Given the description of an element on the screen output the (x, y) to click on. 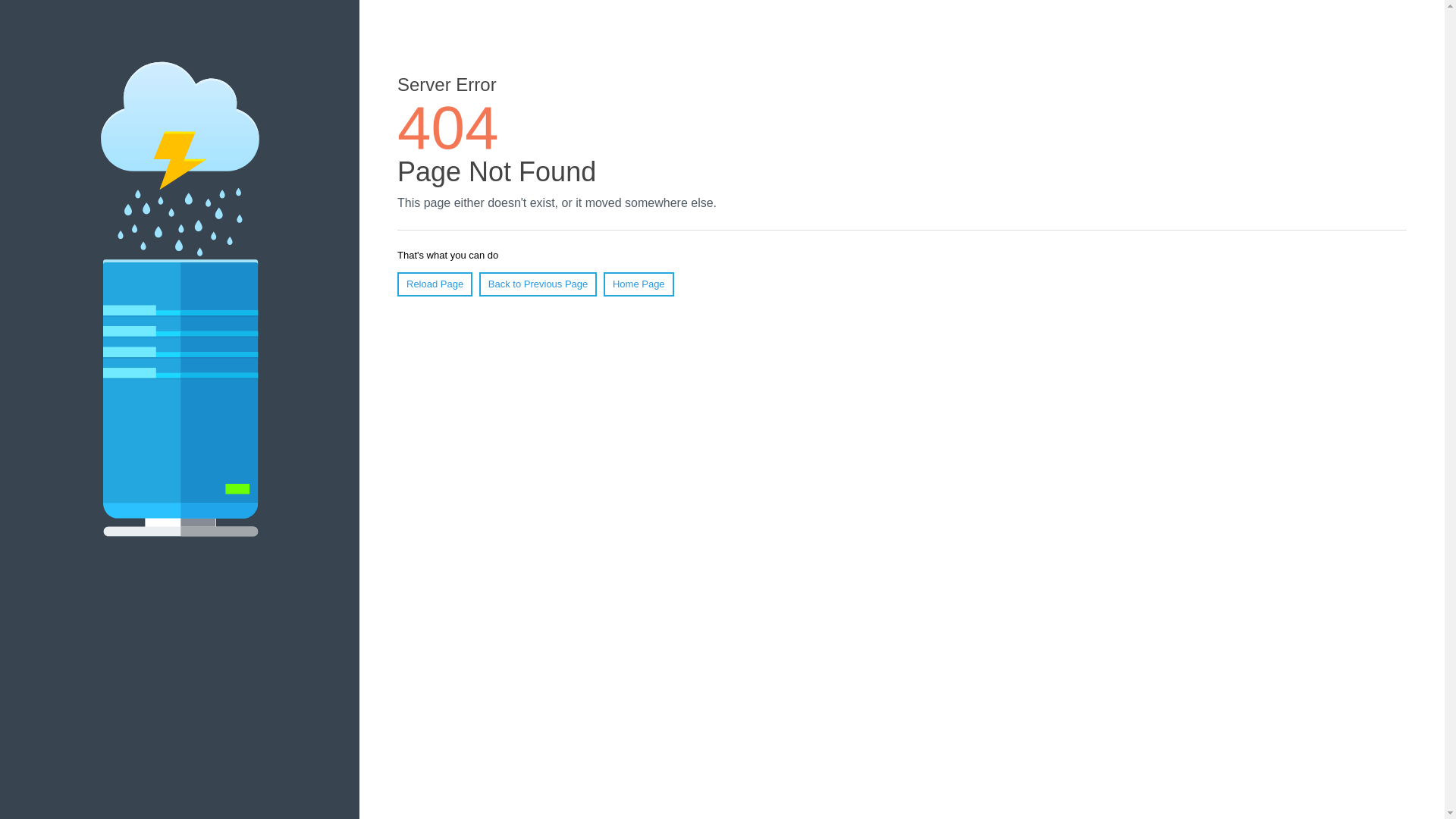
Back to Previous Page Element type: text (538, 284)
Home Page Element type: text (638, 284)
Reload Page Element type: text (434, 284)
